Given the description of an element on the screen output the (x, y) to click on. 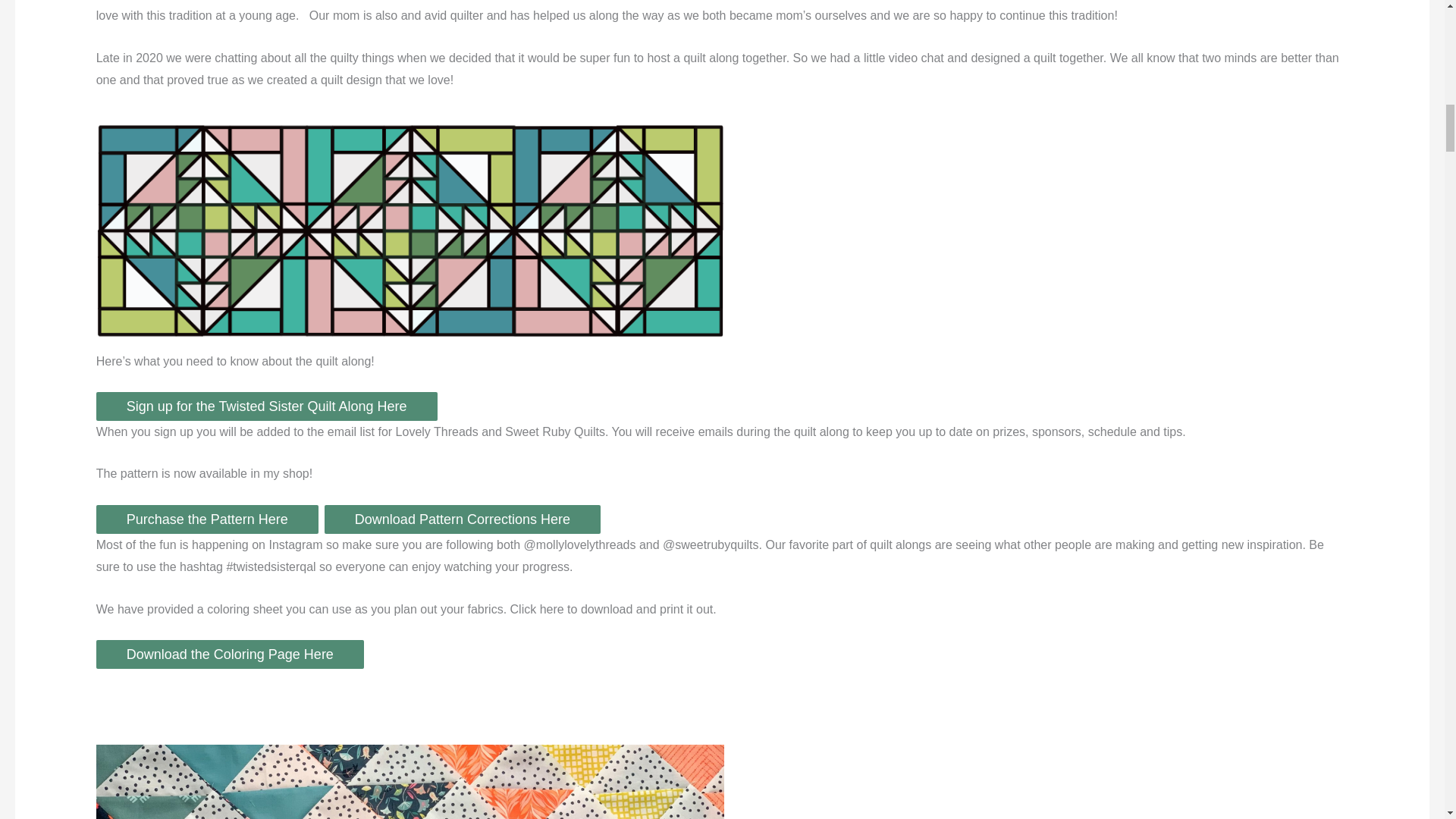
Purchase the Pattern Here (207, 519)
Download Pattern Corrections Here (461, 519)
Sign up for the Twisted Sister Quilt Along Here (267, 406)
Download the Coloring Page Here (230, 654)
